Given the description of an element on the screen output the (x, y) to click on. 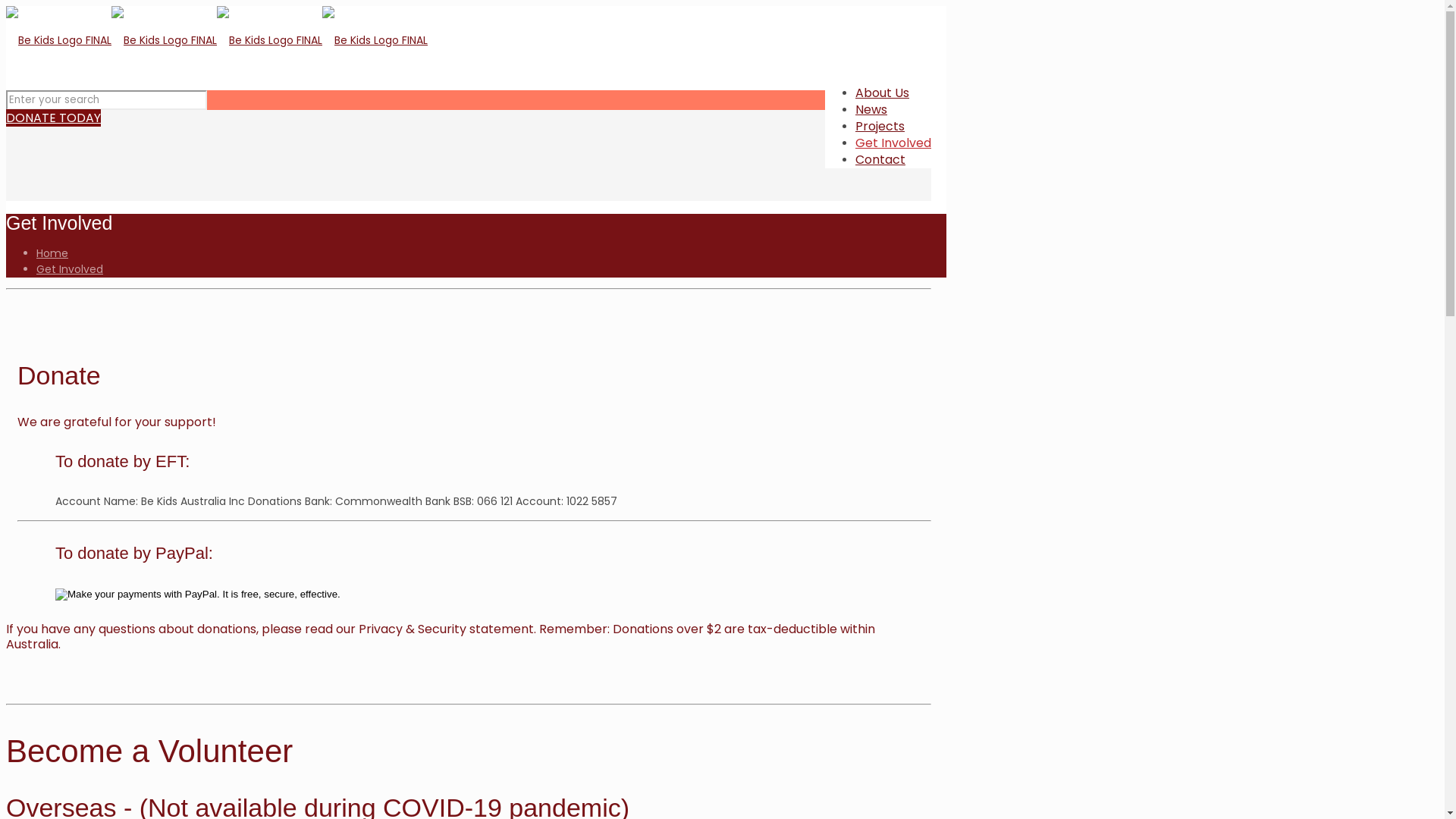
Contact Element type: text (880, 159)
DONATE TODAY Element type: text (53, 117)
Get Involved Element type: text (893, 142)
Home Element type: text (52, 252)
Projects Element type: text (879, 125)
About Us Element type: text (882, 92)
Get Involved Element type: text (69, 268)
News Element type: text (871, 109)
BeKids Element type: hover (216, 40)
